Given the description of an element on the screen output the (x, y) to click on. 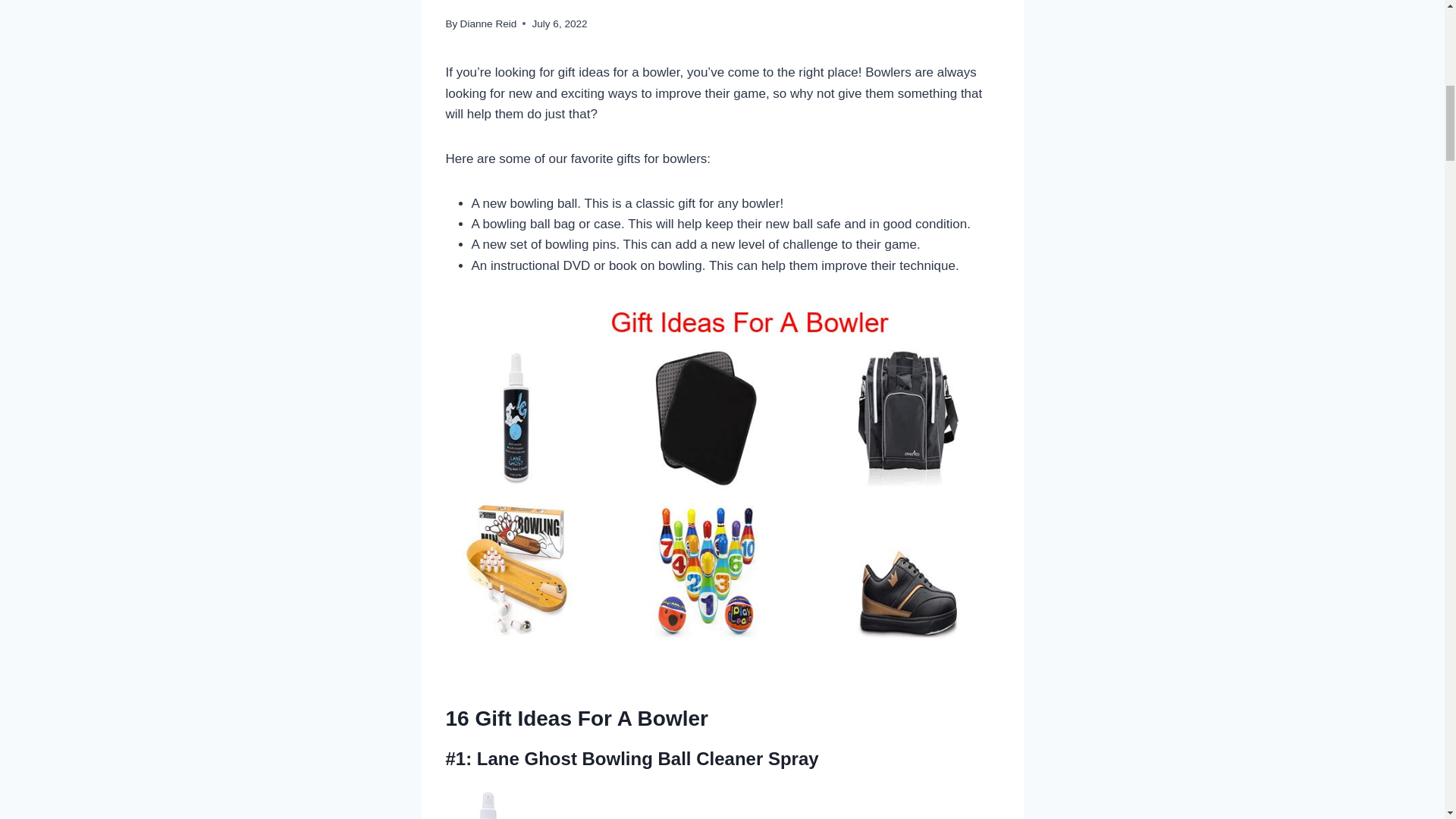
Dianne Reid (488, 23)
